Given the description of an element on the screen output the (x, y) to click on. 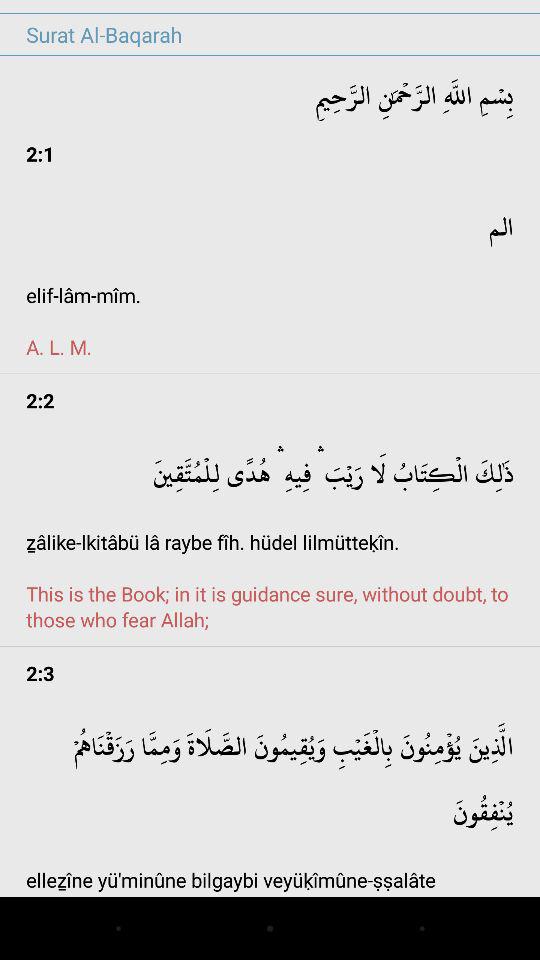
choose app below 2:1 app (270, 276)
